Given the description of an element on the screen output the (x, y) to click on. 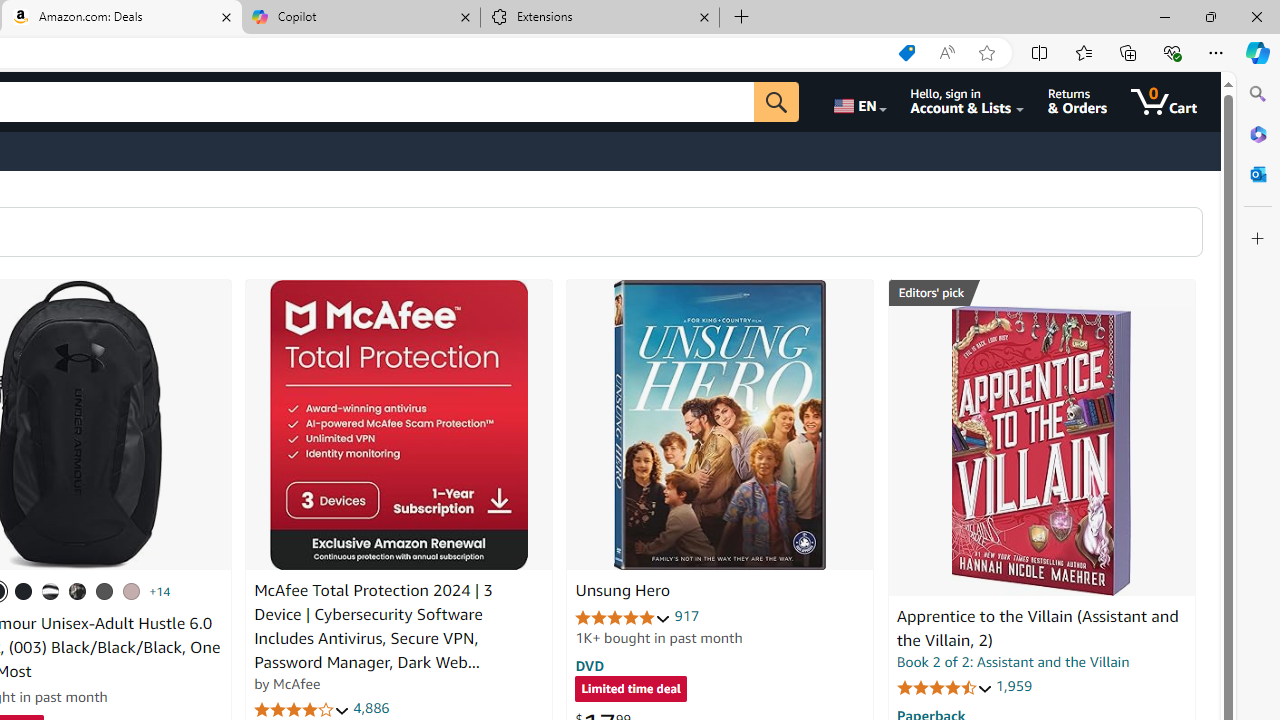
DVD (589, 665)
(002) Black / Black / White (51, 591)
917 (687, 616)
(004) Black / Black / Metallic Gold (78, 591)
0 items in cart (1163, 101)
Go (776, 101)
Book 2 of 2: Assistant and the Villain (1013, 662)
Copilot (360, 17)
Unsung Hero (720, 425)
